Given the description of an element on the screen output the (x, y) to click on. 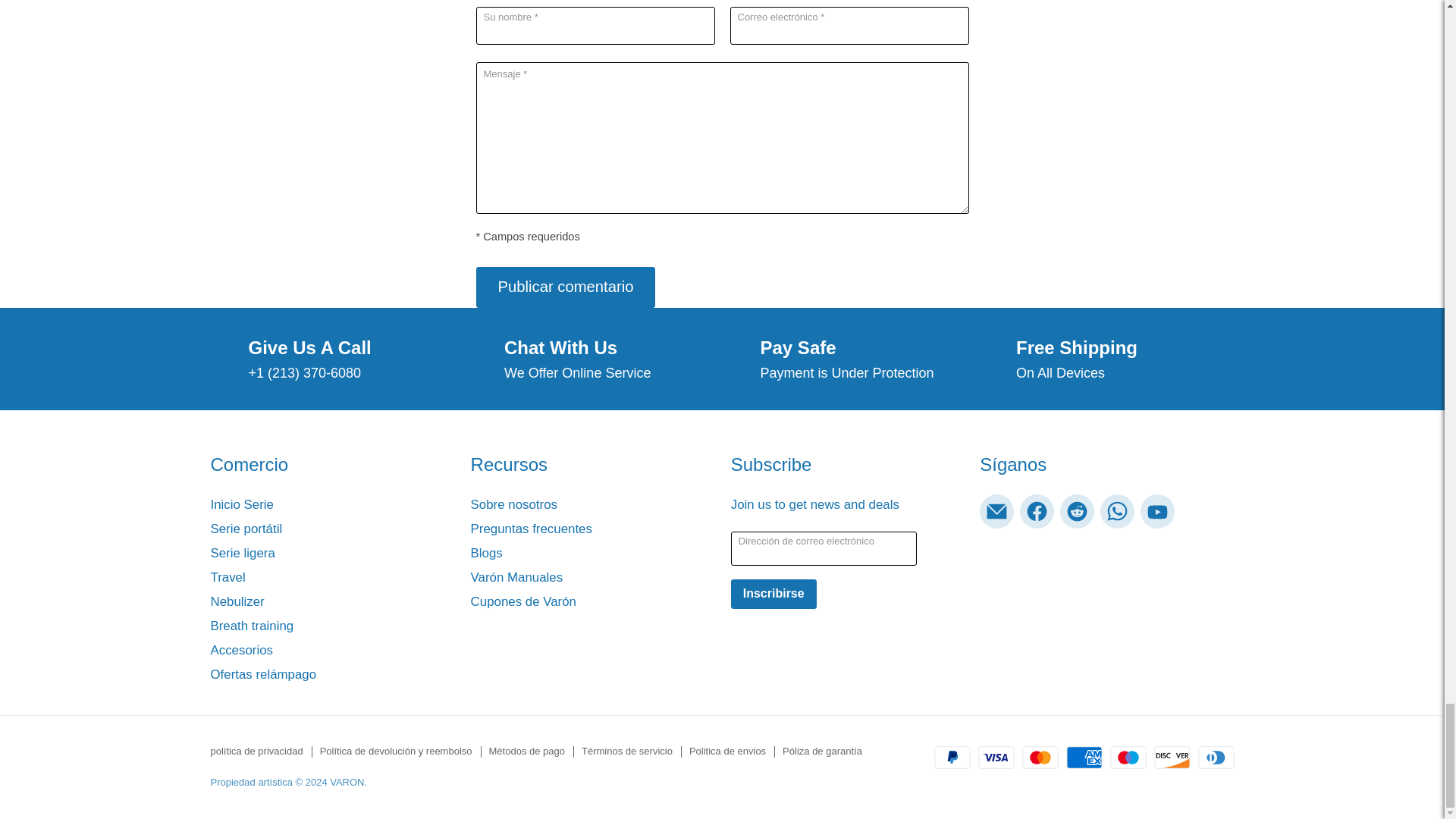
PayPal (952, 757)
YouTube (1157, 511)
Facebook (1037, 511)
WhatsApp (1117, 511)
Reddit (1076, 511)
Visa (996, 757)
